Given the description of an element on the screen output the (x, y) to click on. 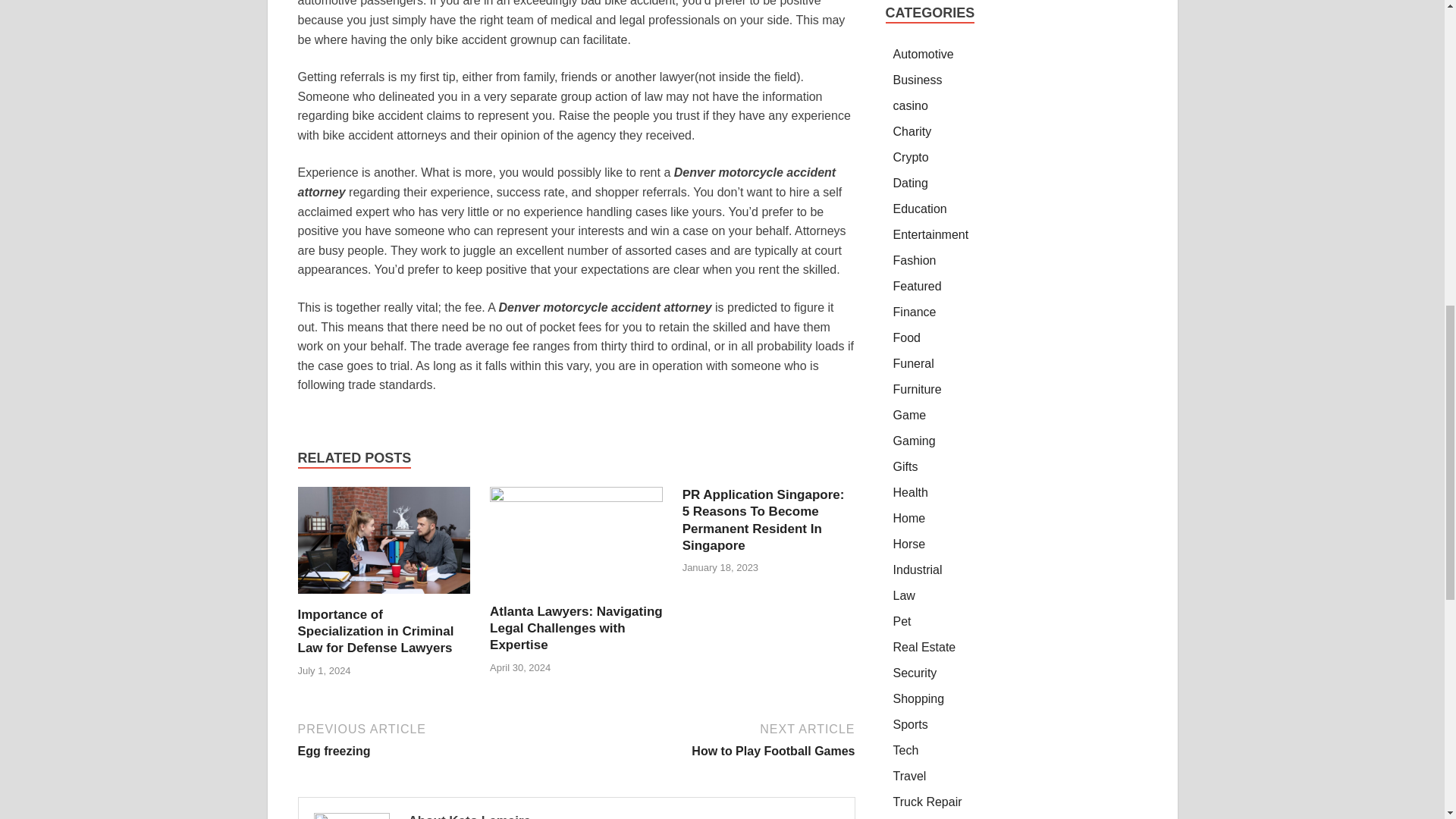
Atlanta Lawyers: Navigating Legal Challenges with Expertise (717, 738)
Atlanta Lawyers: Navigating Legal Challenges with Expertise (575, 627)
Atlanta Lawyers: Navigating Legal Challenges with Expertise (575, 627)
